Given the description of an element on the screen output the (x, y) to click on. 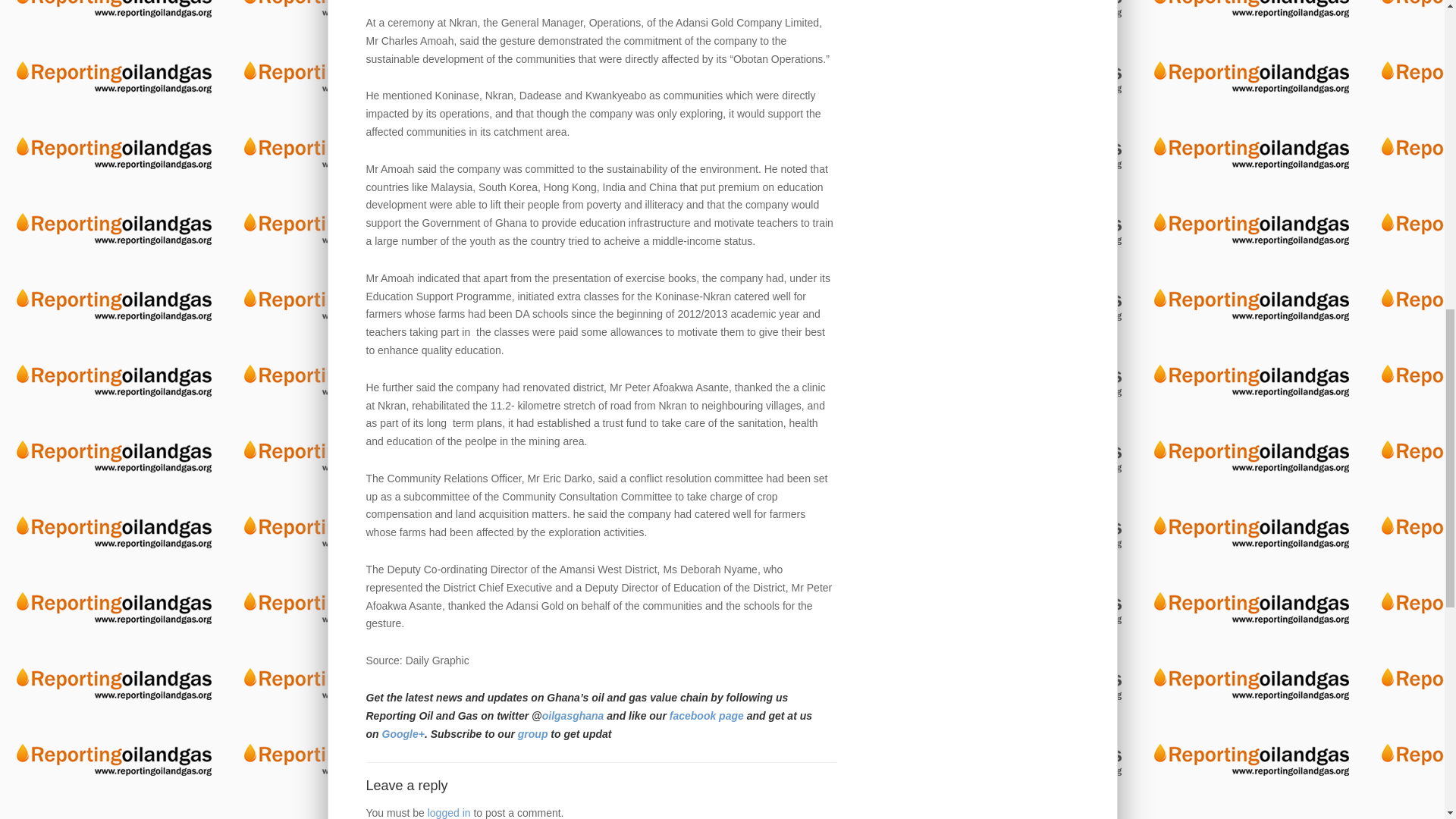
oilgasghana (572, 715)
group  (534, 734)
facebook page  (707, 715)
